Given the description of an element on the screen output the (x, y) to click on. 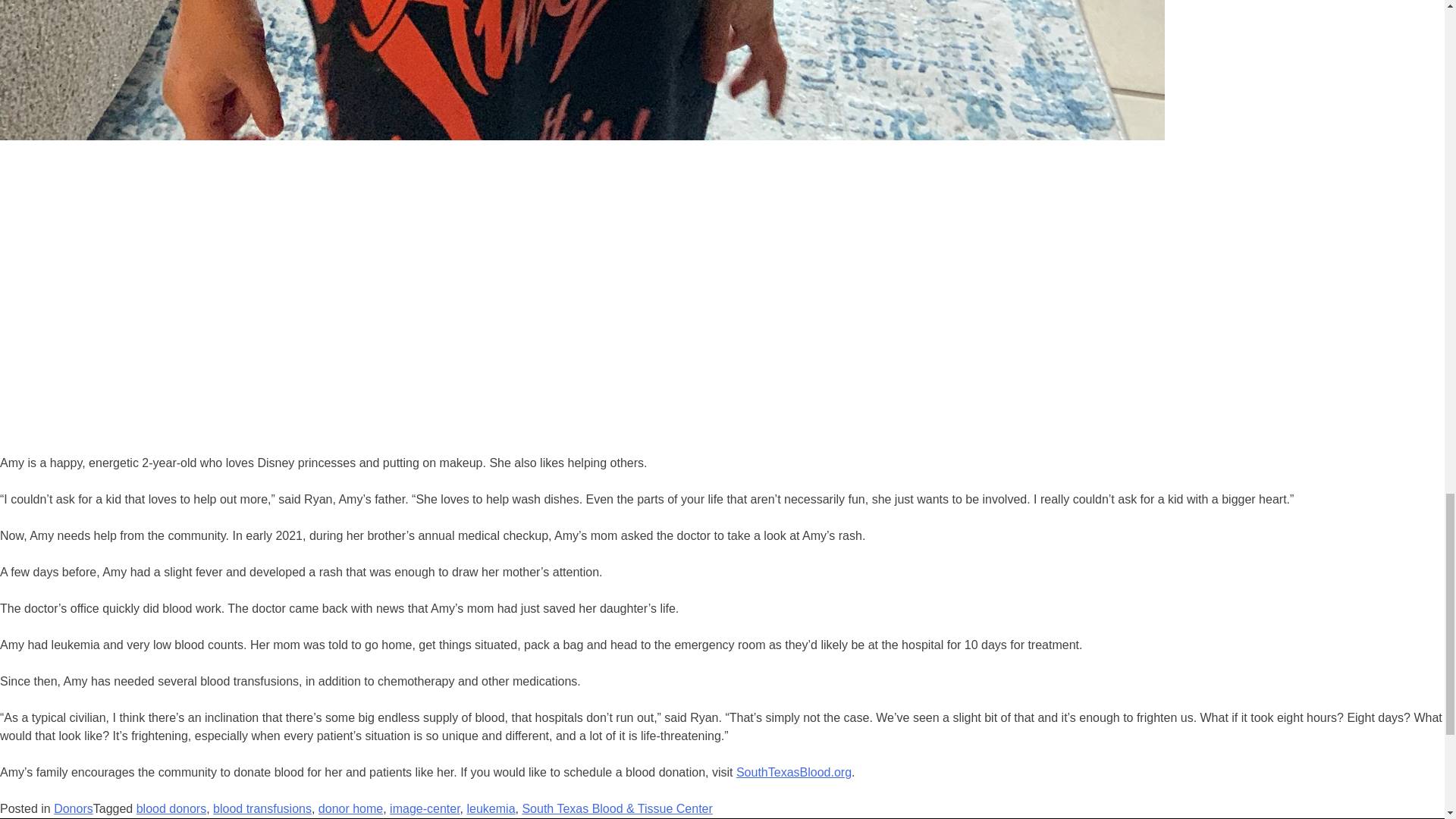
Introduction to Amy (242, 299)
